Given the description of an element on the screen output the (x, y) to click on. 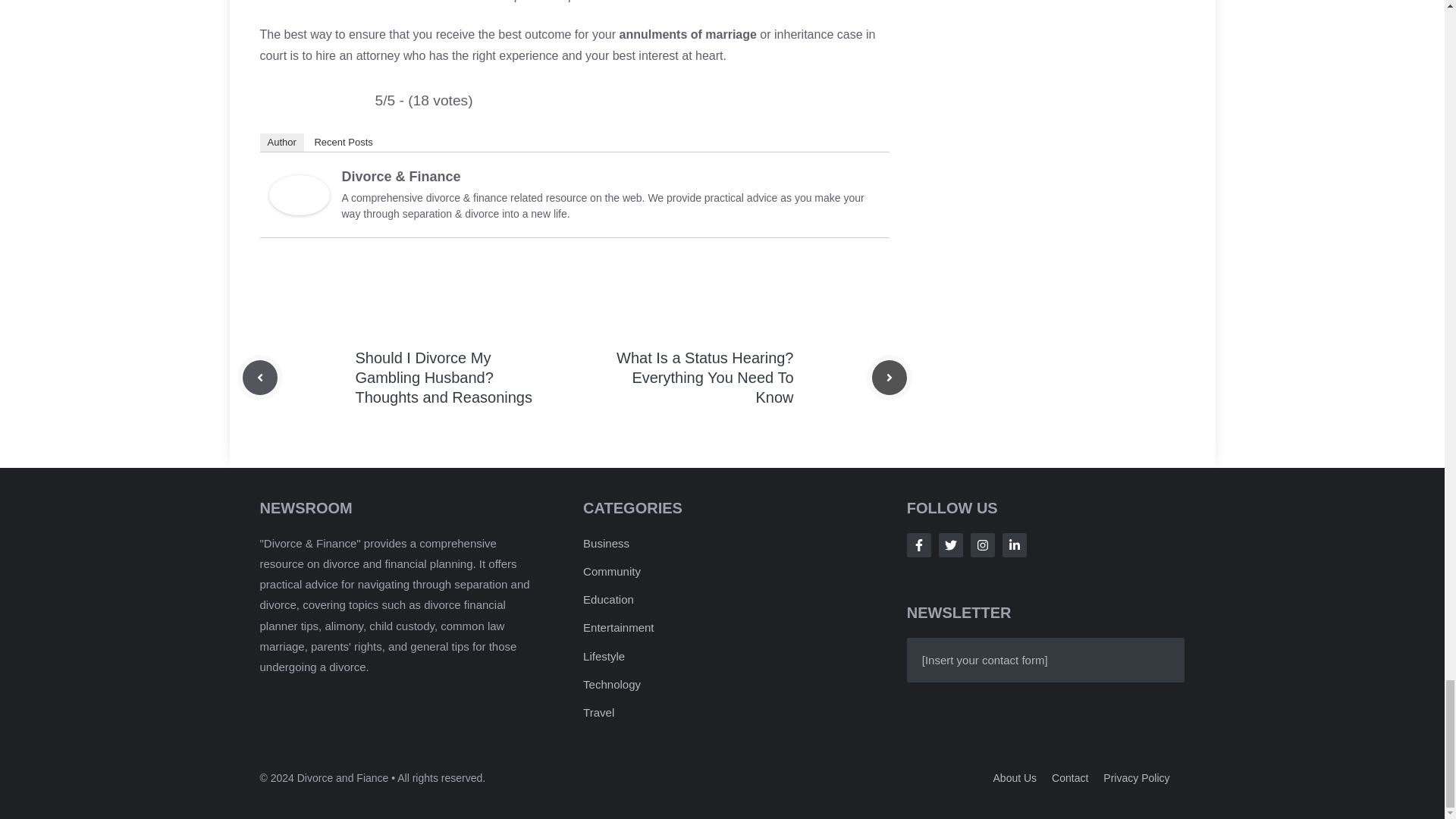
Recent Posts (342, 142)
Author (280, 142)
What Is a Status Hearing? Everything You Need To Know (704, 377)
annulments of marriage (688, 33)
